Given the description of an element on the screen output the (x, y) to click on. 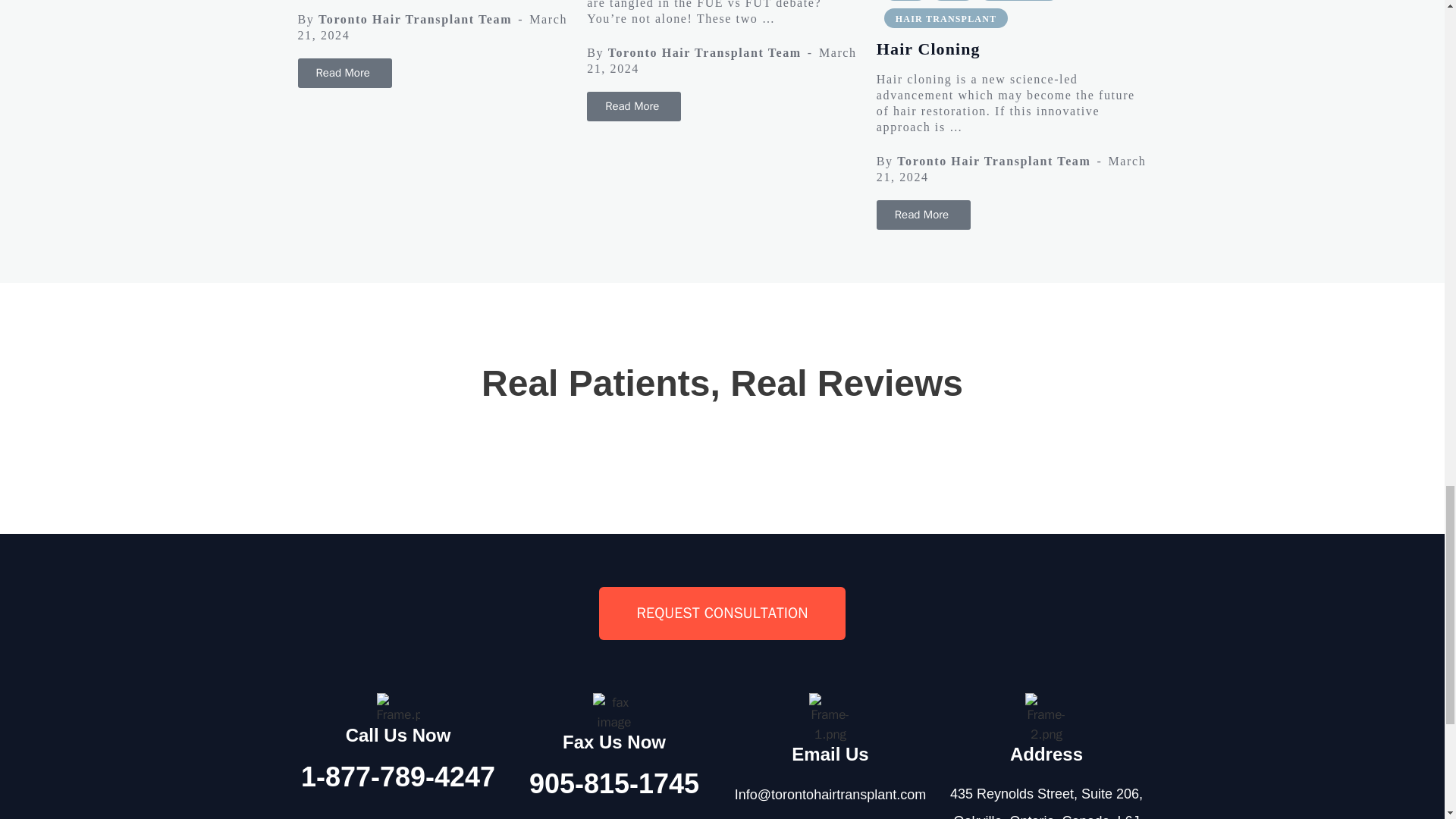
Frame-1.png (829, 717)
Hair Transplant Surgery (344, 72)
fax image (614, 712)
FUE vs FUT Hair Transplant: Which is Best for You? (633, 106)
Frame.png (397, 708)
Frame-2.png (1046, 717)
Hair Cloning (923, 214)
